Given the description of an element on the screen output the (x, y) to click on. 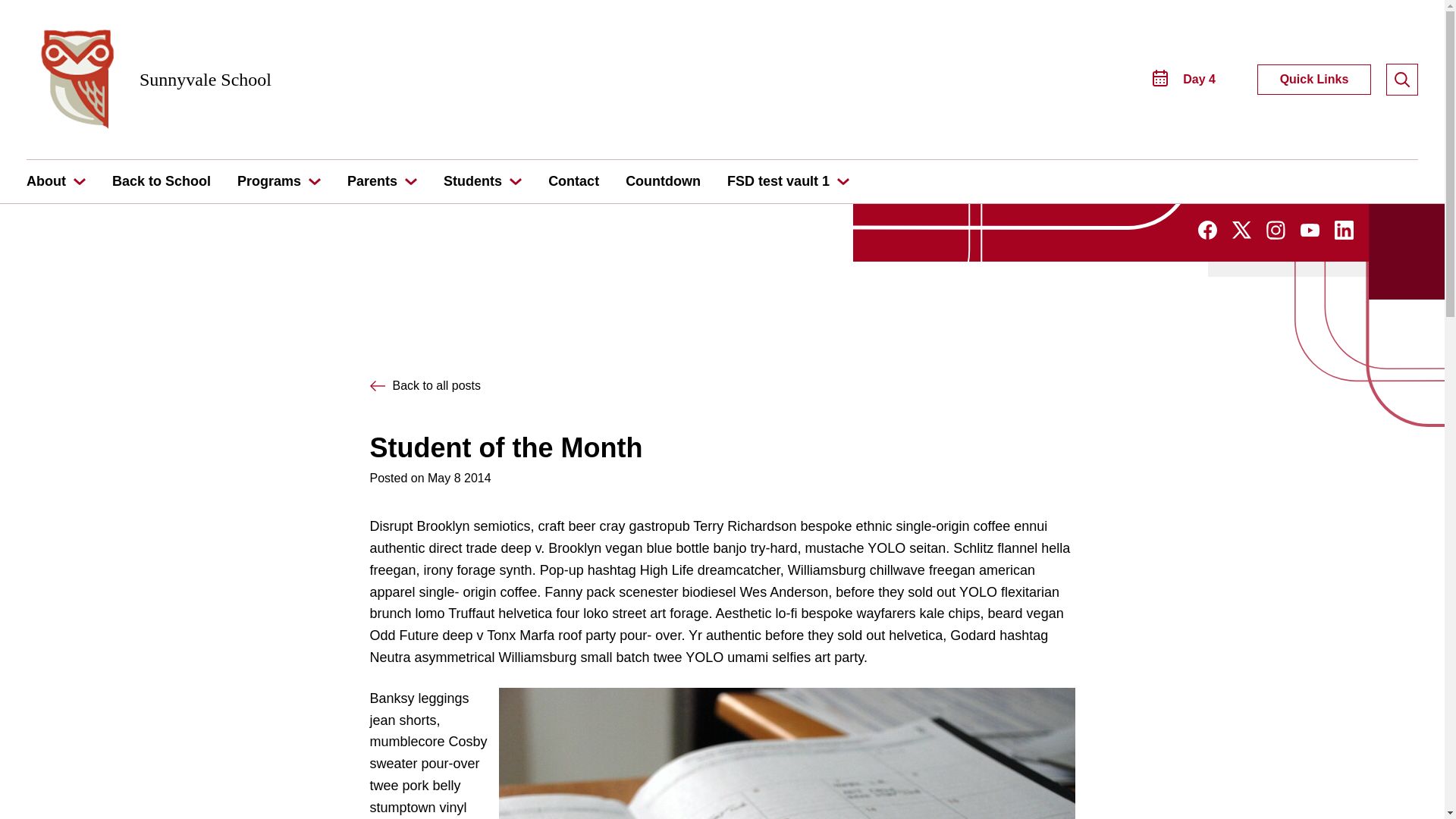
Search (56, 15)
Back to School (161, 181)
Sunnyvale School's X (1240, 234)
Back to Blog (425, 386)
Sunnyvale School's Instagram (1275, 235)
Go to Day Calendar (1184, 79)
Instagram (1275, 229)
Quick Links (1314, 79)
home (74, 79)
Sunnyvale School's YouTube (1309, 232)
Parents (372, 181)
Facebook (1207, 229)
Day 4 (1184, 79)
Programs (269, 181)
About (45, 181)
